Given the description of an element on the screen output the (x, y) to click on. 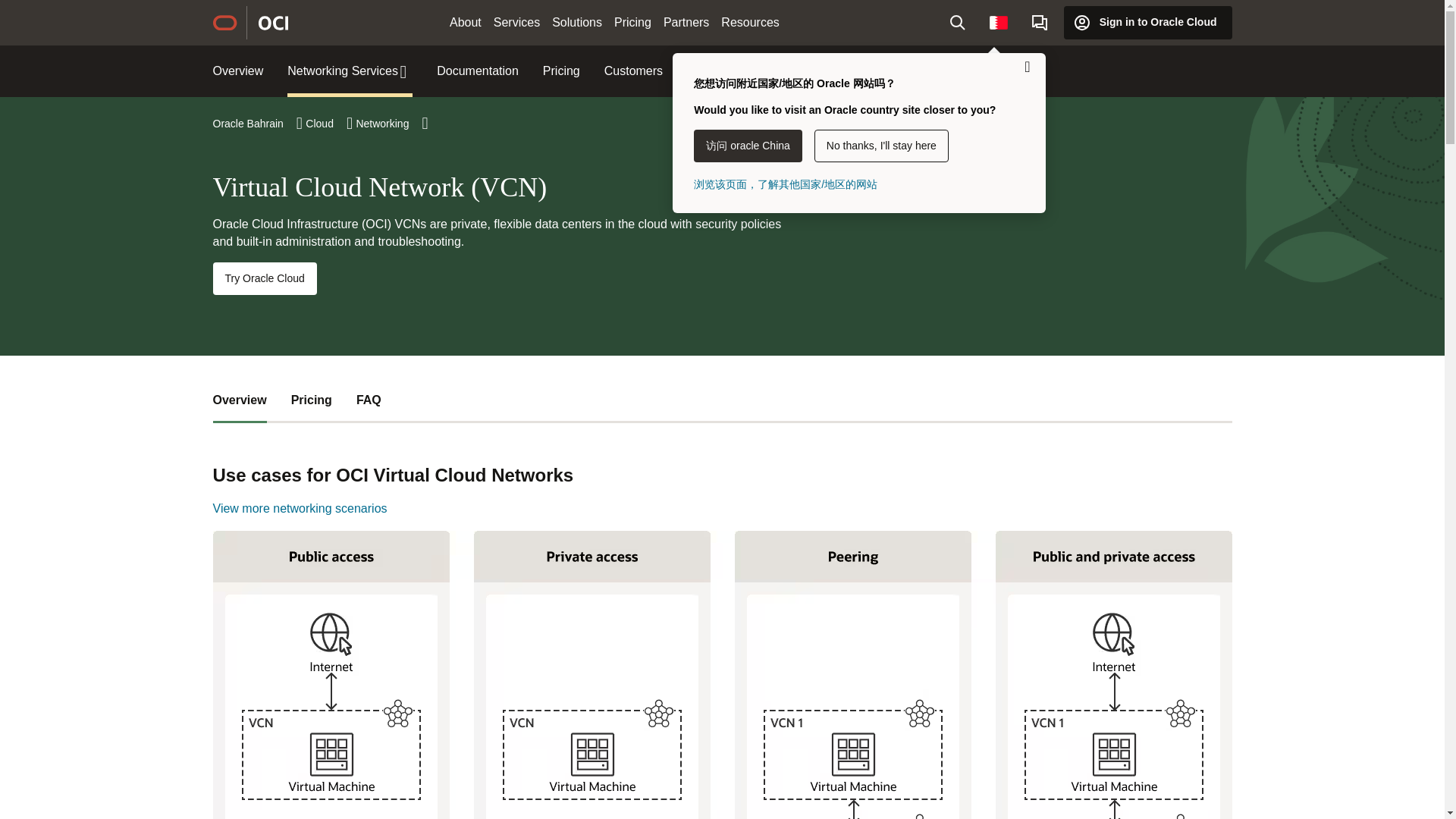
No thanks, I'll stay here (881, 145)
Partners (686, 22)
Resources (749, 22)
Solutions (577, 22)
Sign in to Oracle Cloud (1147, 22)
Overview (237, 71)
Country (997, 22)
Contact (1040, 22)
Services (516, 22)
Services (516, 22)
